Given the description of an element on the screen output the (x, y) to click on. 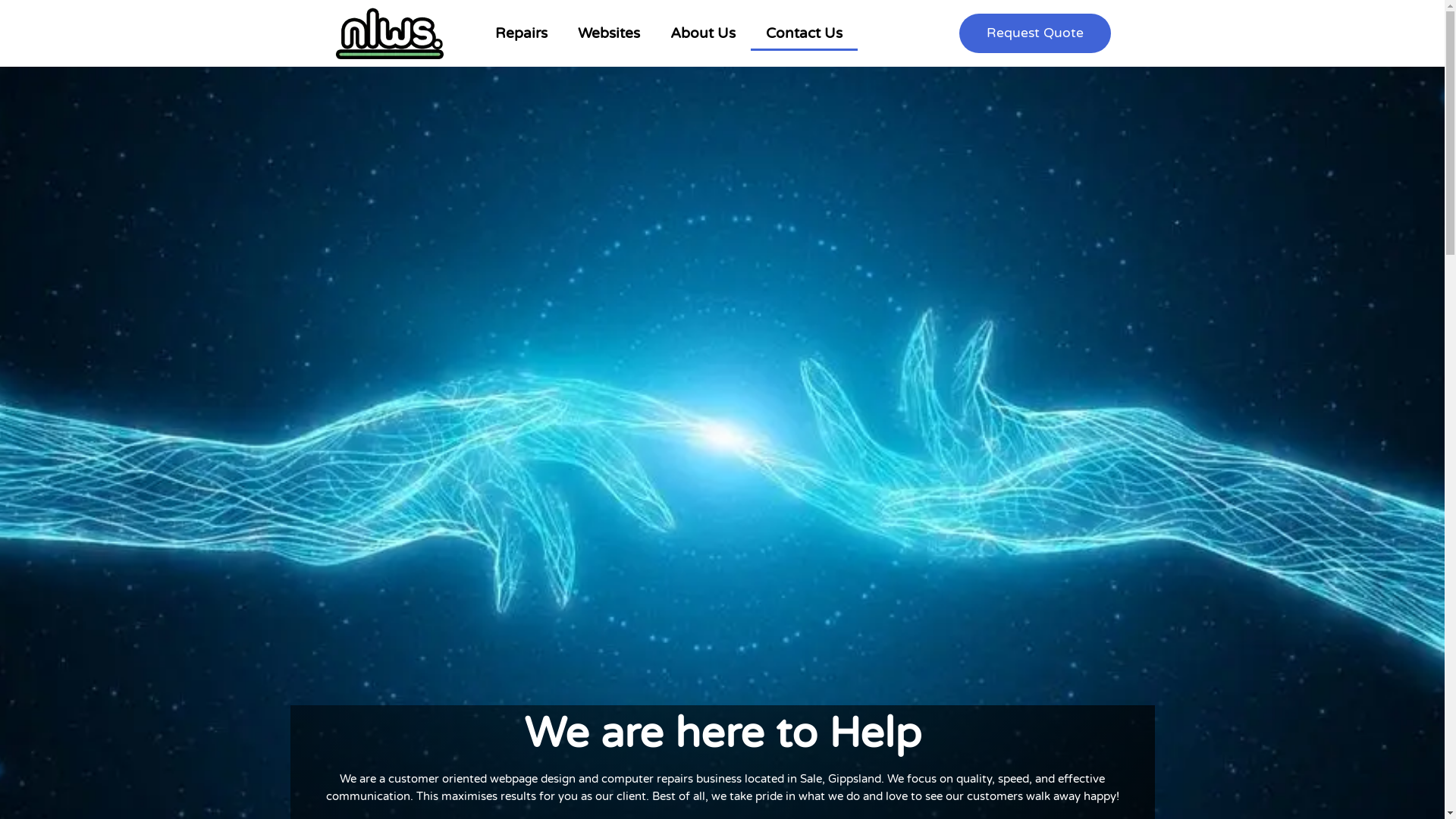
About Us Element type: text (702, 32)
Repairs Element type: text (520, 32)
Contact Us Element type: text (803, 32)
Request Quote Element type: text (1034, 33)
Websites Element type: text (608, 32)
